Given the description of an element on the screen output the (x, y) to click on. 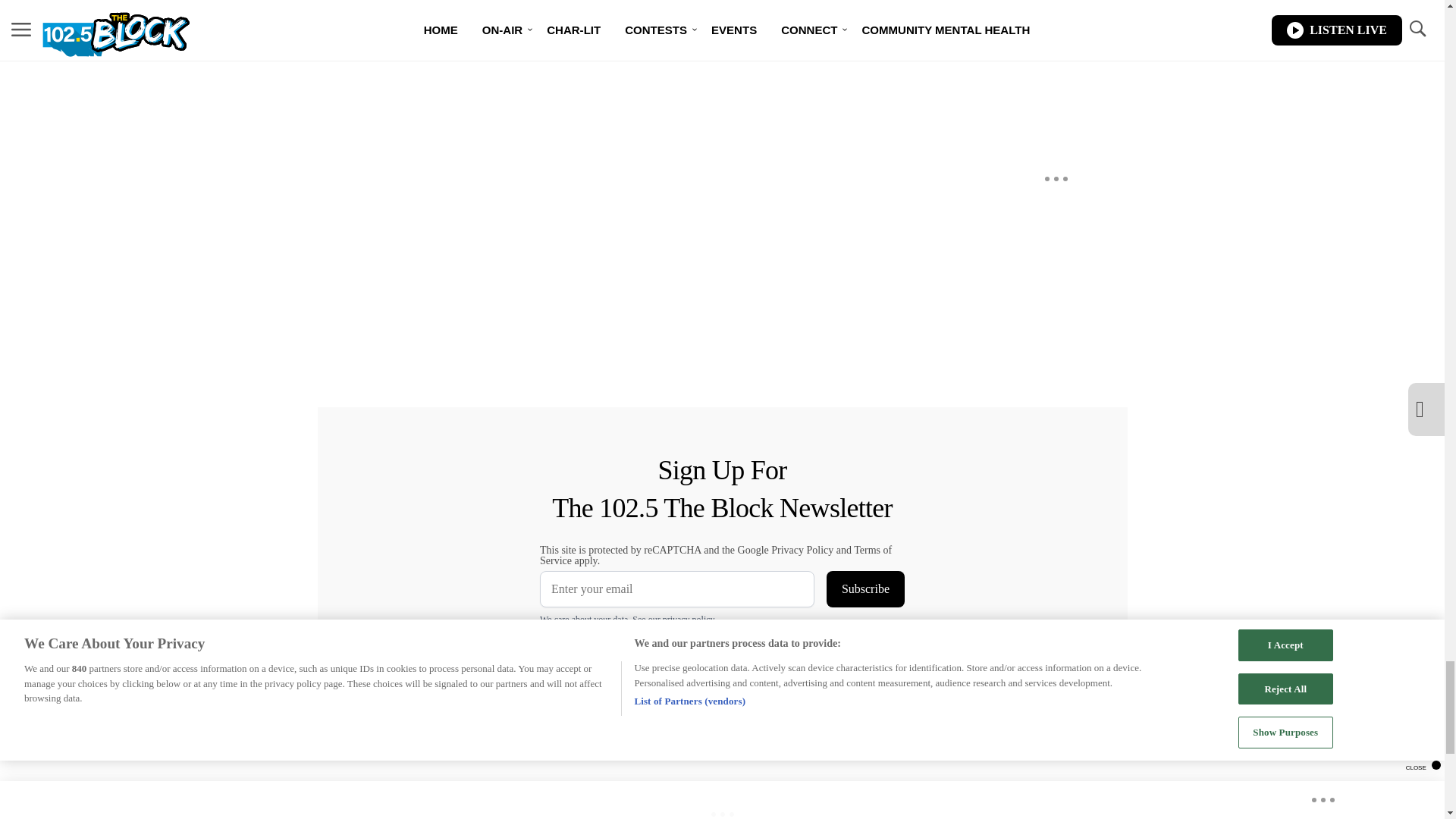
Vuukle Comments Widget (585, 49)
